Given the description of an element on the screen output the (x, y) to click on. 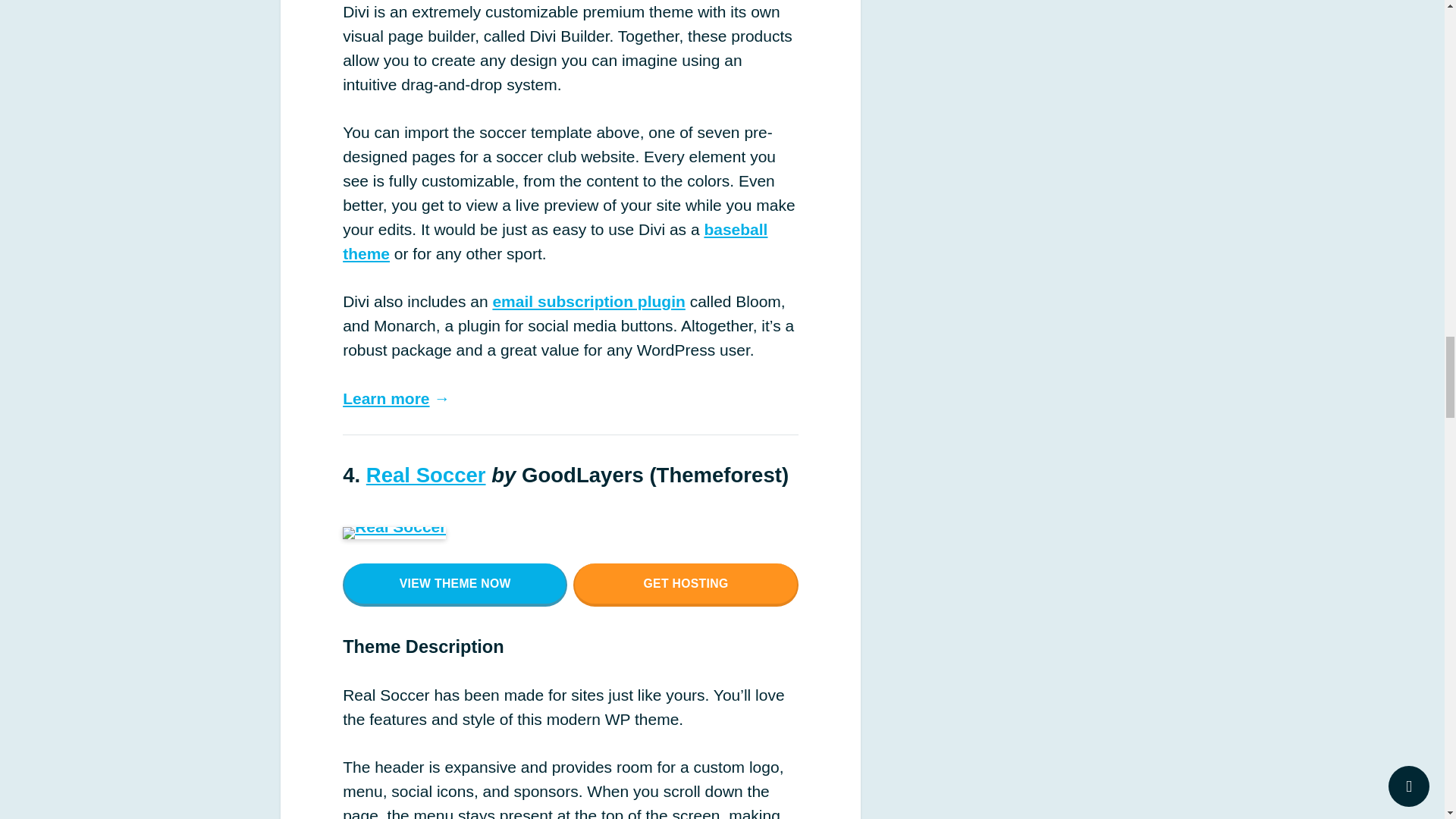
baseball theme (554, 241)
email subscription plugin (588, 301)
